Given the description of an element on the screen output the (x, y) to click on. 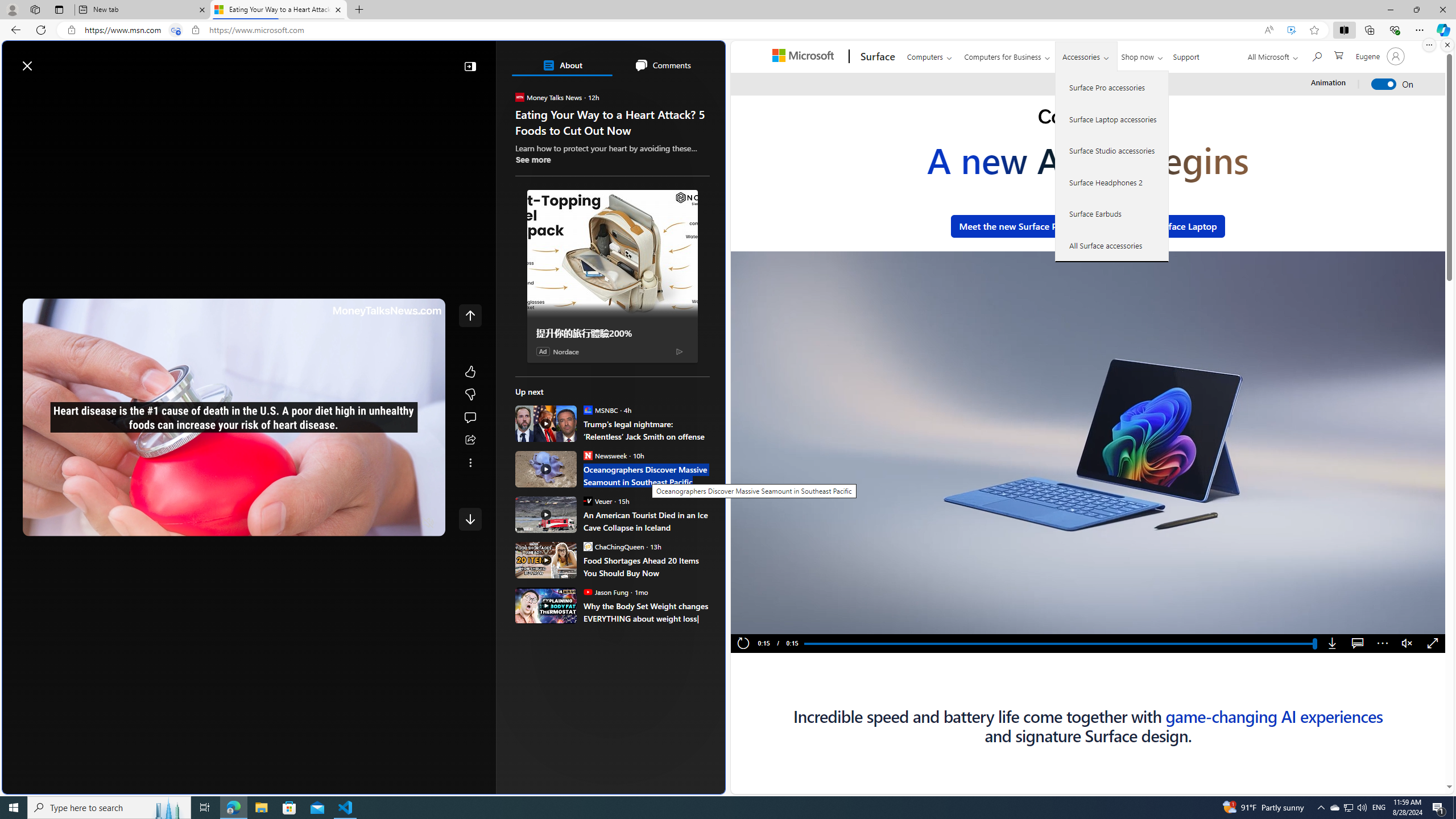
Surface Pro accessories (1112, 87)
Pause (762, 621)
Surface Headphones 2 (1112, 182)
Personalized for You (616, 219)
Collapse (469, 65)
About (561, 64)
ChaChingQueen ChaChingQueen (613, 546)
Animation On (1383, 84)
AutomationID: pause-svg (762, 621)
